Given the description of an element on the screen output the (x, y) to click on. 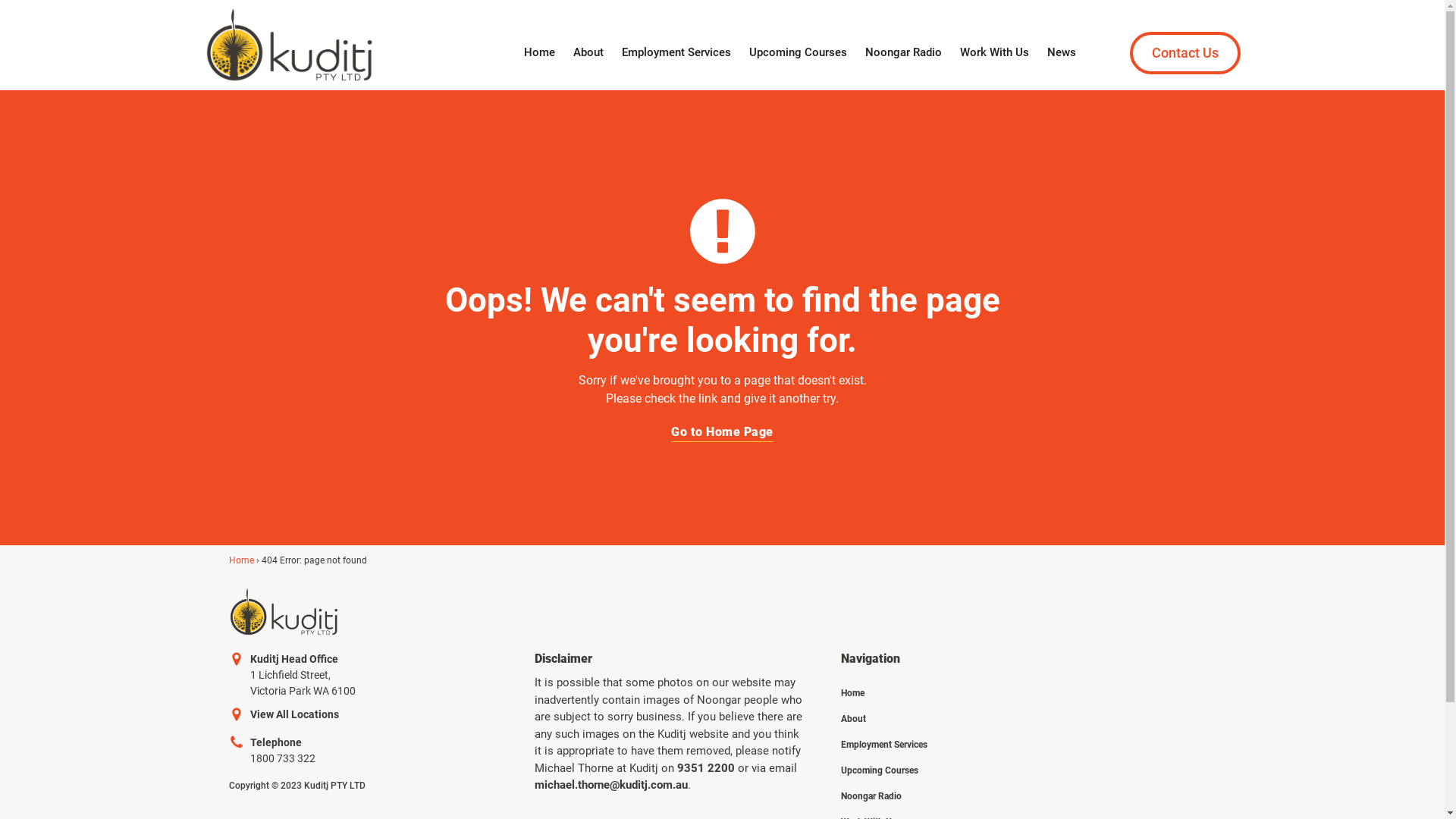
Go to Home Page Element type: text (722, 432)
Employment Services Element type: text (676, 52)
Noongar Radio Element type: text (903, 52)
About Element type: text (588, 52)
Home Element type: text (539, 52)
Home Element type: text (241, 560)
About Element type: text (883, 712)
Home Element type: text (883, 686)
News Element type: text (1061, 52)
Contact Us Element type: text (1184, 52)
View All Locations Element type: text (283, 714)
Employment Services Element type: text (883, 738)
Upcoming Courses Element type: text (798, 52)
Upcoming Courses Element type: text (883, 764)
Web Design Element type: text (323, 800)
Work With Us Element type: text (994, 52)
michael.thorne@kuditj.com.au Element type: text (610, 784)
Telephone
1800 733 322 Element type: text (272, 750)
Noongar Radio Element type: text (883, 790)
